Given the description of an element on the screen output the (x, y) to click on. 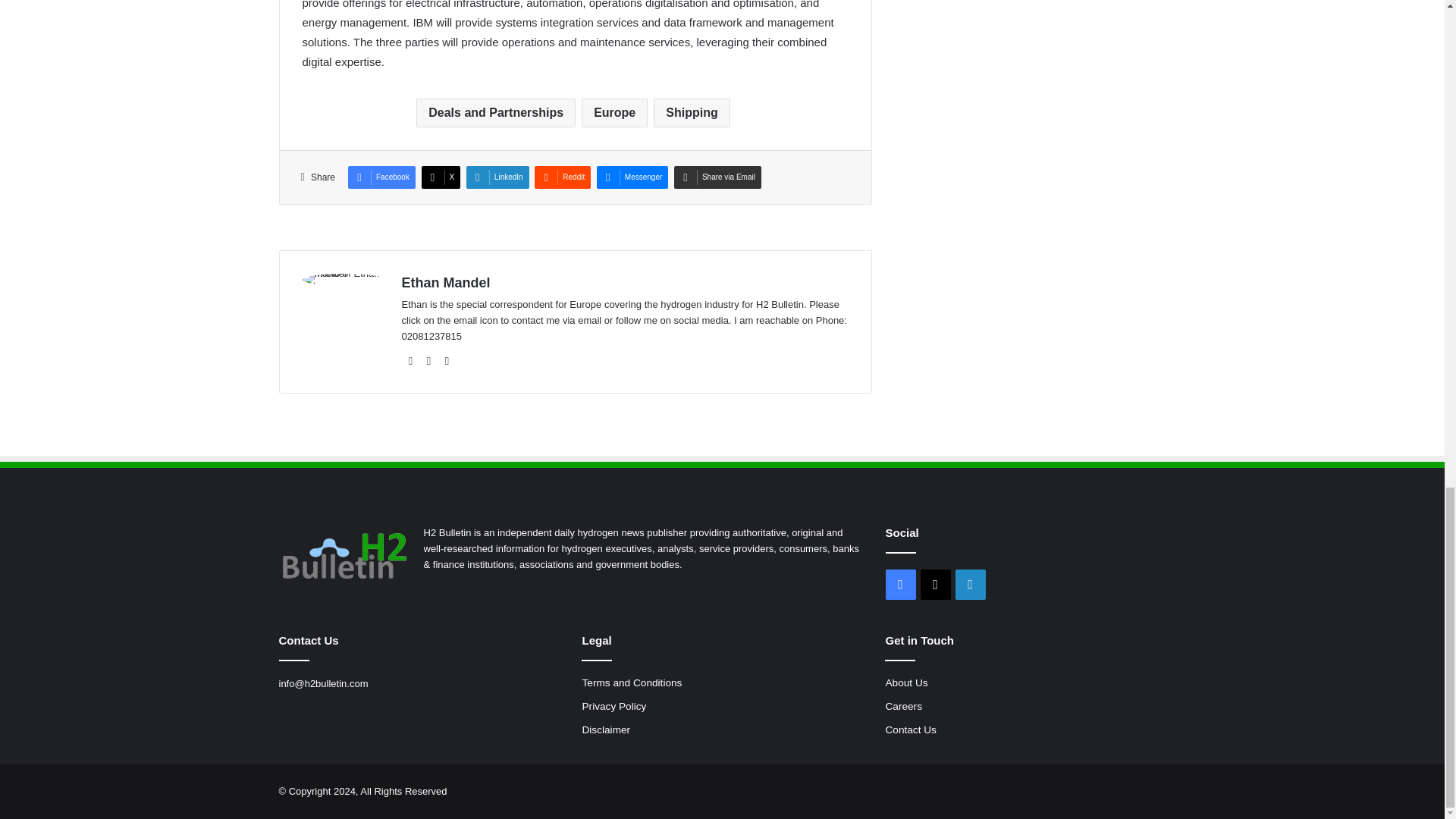
X (429, 361)
Share via Email (717, 177)
X (441, 177)
Facebook (380, 177)
Ethan Mandel (445, 282)
X (441, 177)
Reddit (562, 177)
Share via Email (717, 177)
Shipping (691, 112)
Messenger (632, 177)
LinkedIn (497, 177)
Facebook (380, 177)
Europe (613, 112)
LinkedIn (497, 177)
Deals and Partnerships (495, 112)
